Given the description of an element on the screen output the (x, y) to click on. 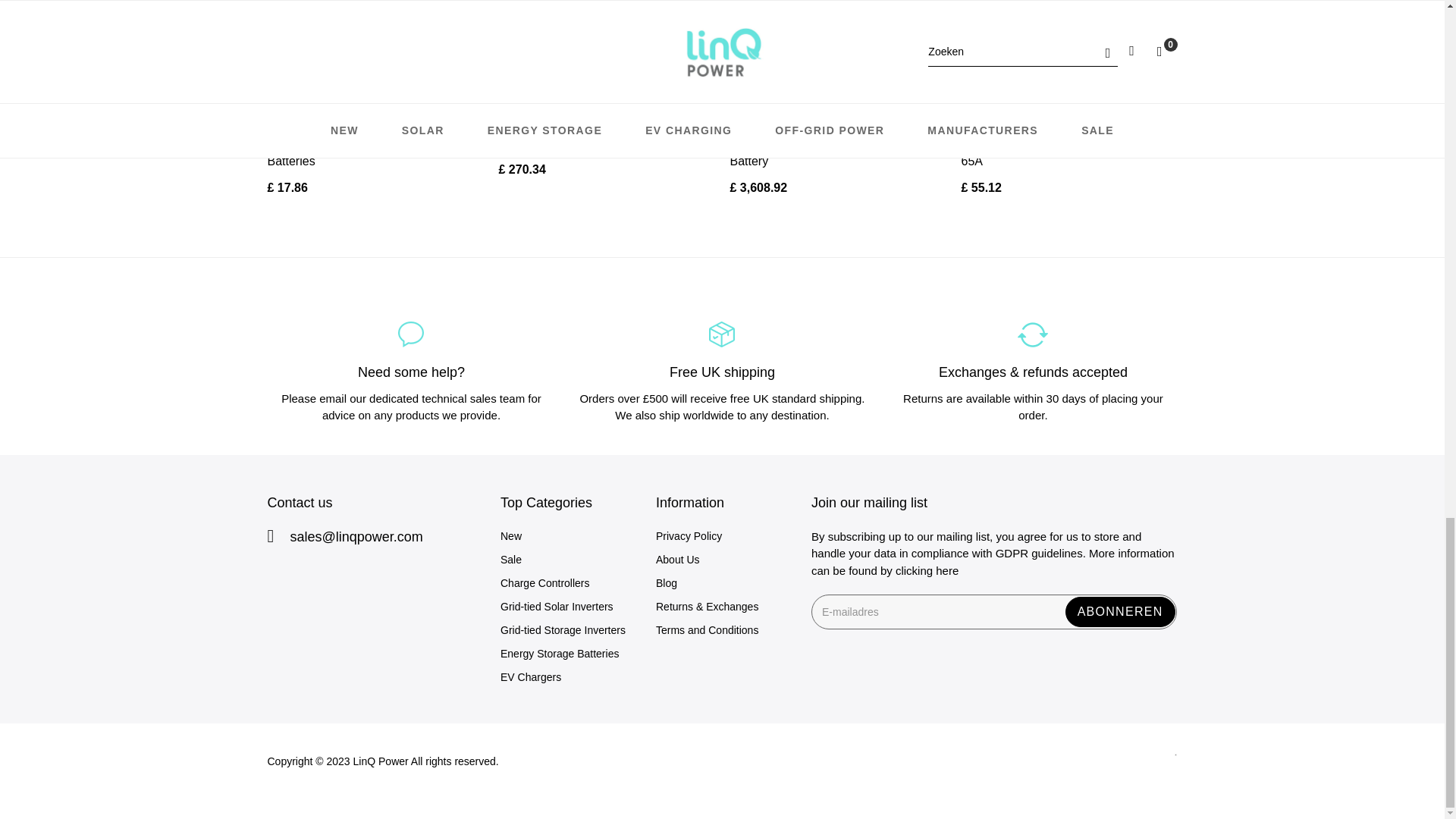
Pylon Cable Pack for US Series Pylon Batteries (368, 151)
